Given the description of an element on the screen output the (x, y) to click on. 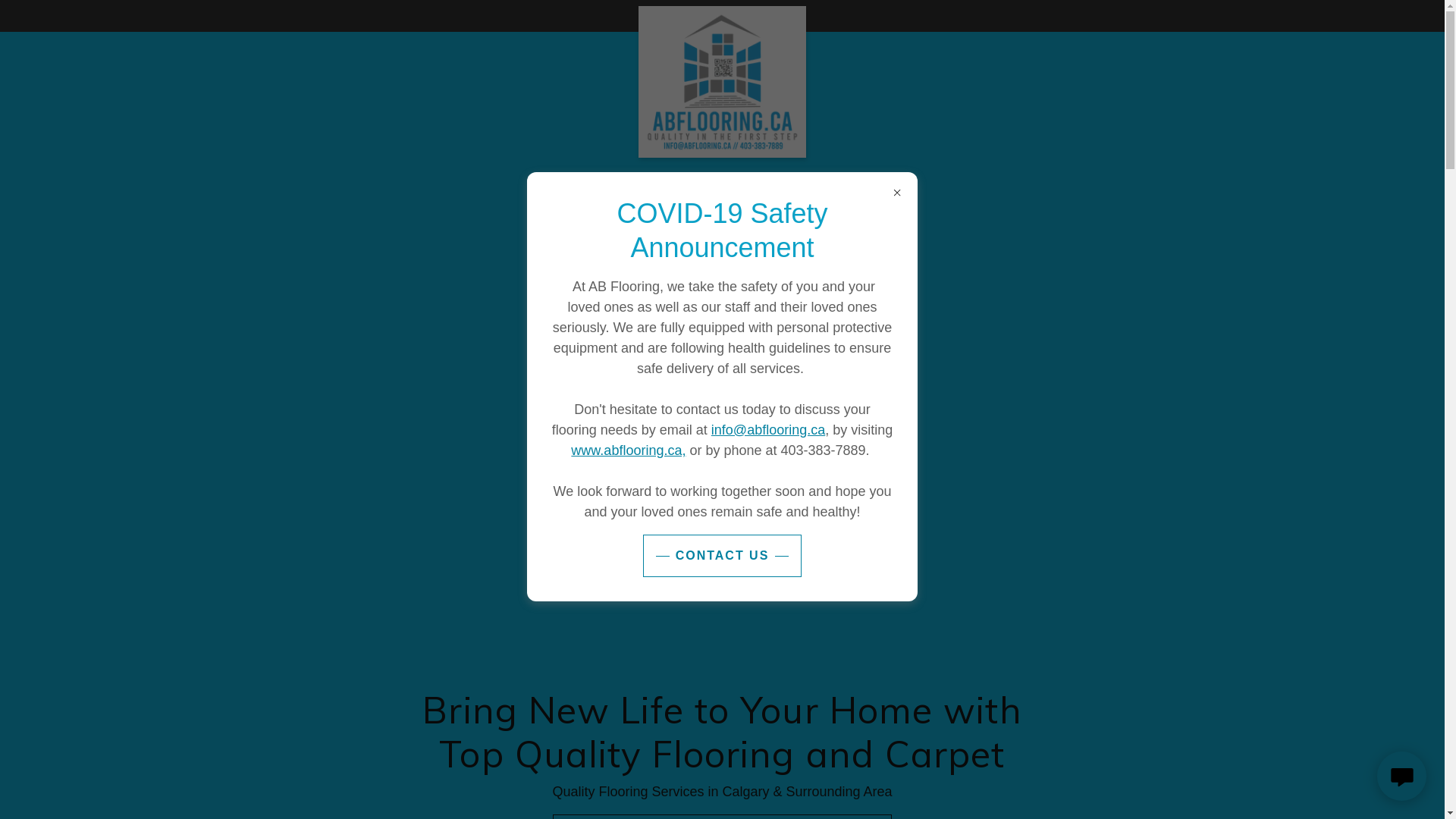
Akdeniz Brothers Flooring Ltd. Element type: hover (721, 12)
info@abflooring.ca Element type: text (768, 429)
www.abflooring.ca, Element type: text (628, 450)
CONTACT US Element type: text (722, 555)
